Given the description of an element on the screen output the (x, y) to click on. 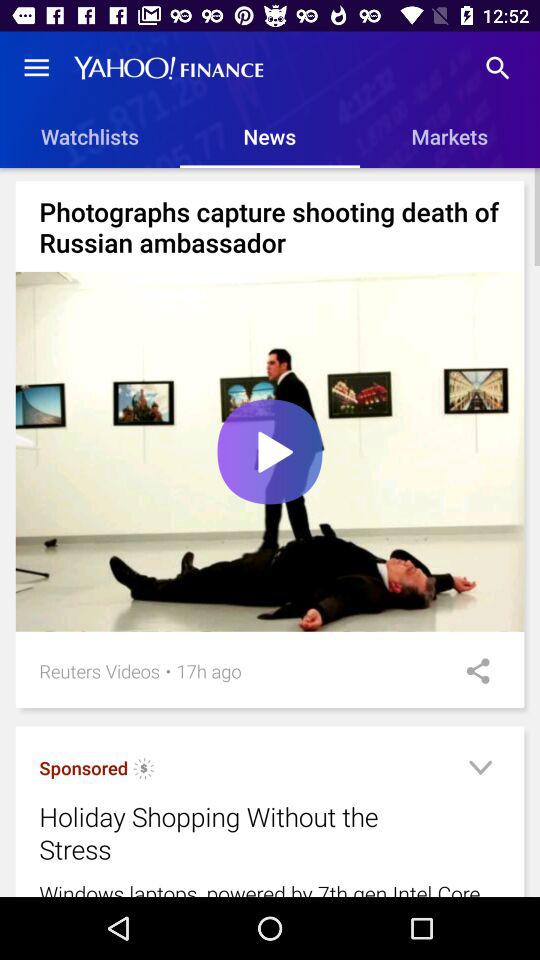
press the icon next to the 17h ago item (471, 671)
